Given the description of an element on the screen output the (x, y) to click on. 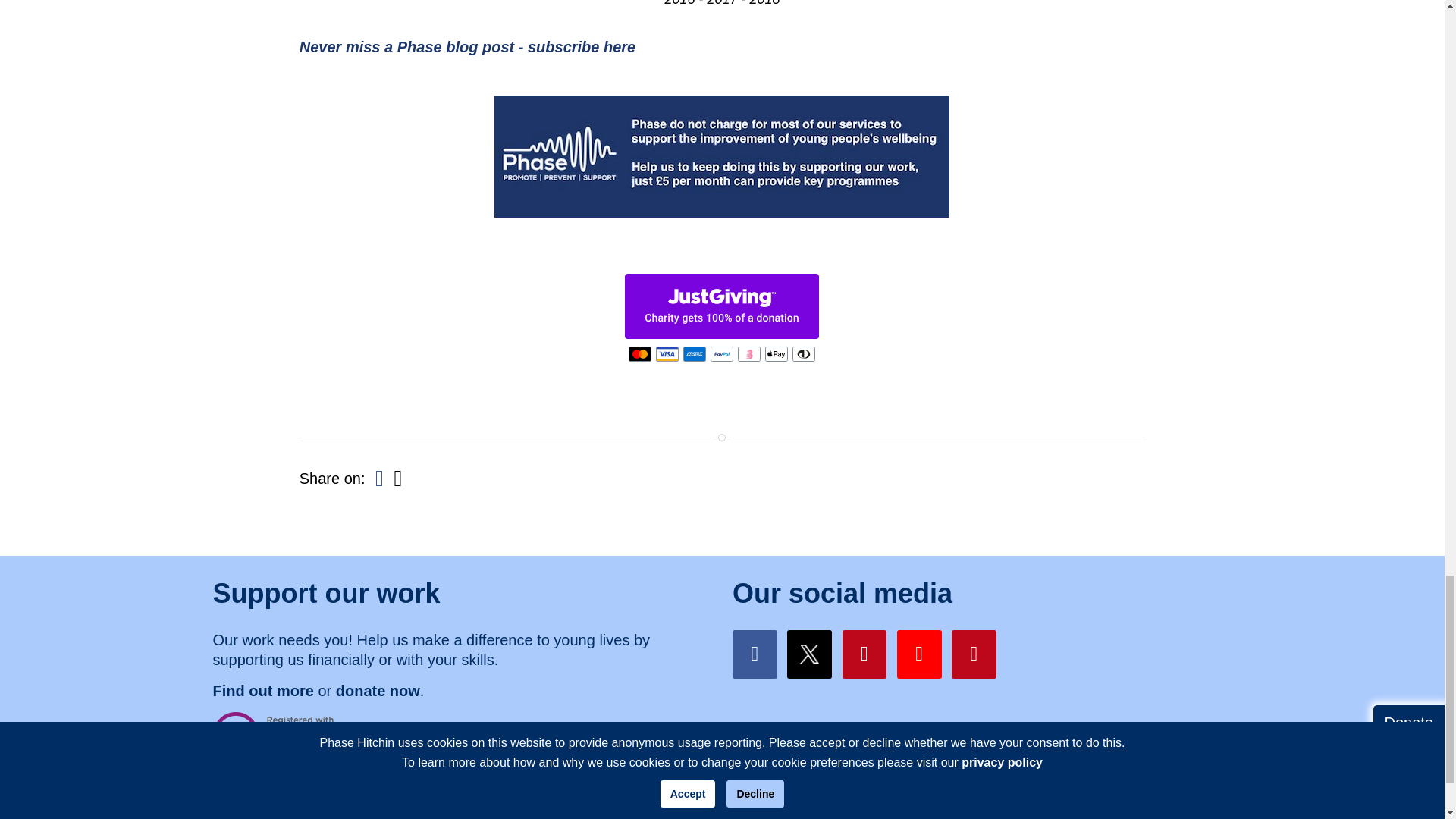
subscribe here (580, 46)
donate now (378, 690)
Privacy Policy (1019, 793)
Safeguarding Policy (1129, 793)
Find out more (262, 690)
1154364 (427, 793)
